Given the description of an element on the screen output the (x, y) to click on. 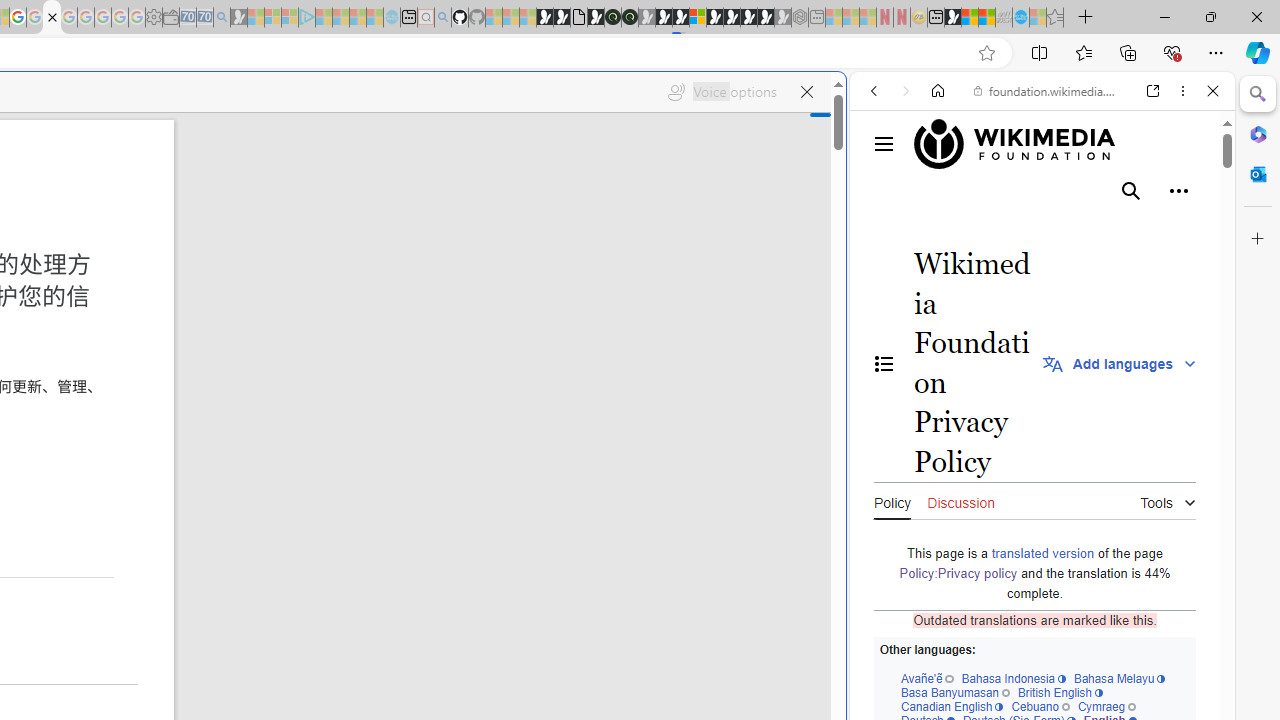
Wikimedia Foundation Governance Wiki (1044, 143)
Cymraeg (1106, 706)
Cymraeg (1106, 706)
